Given the description of an element on the screen output the (x, y) to click on. 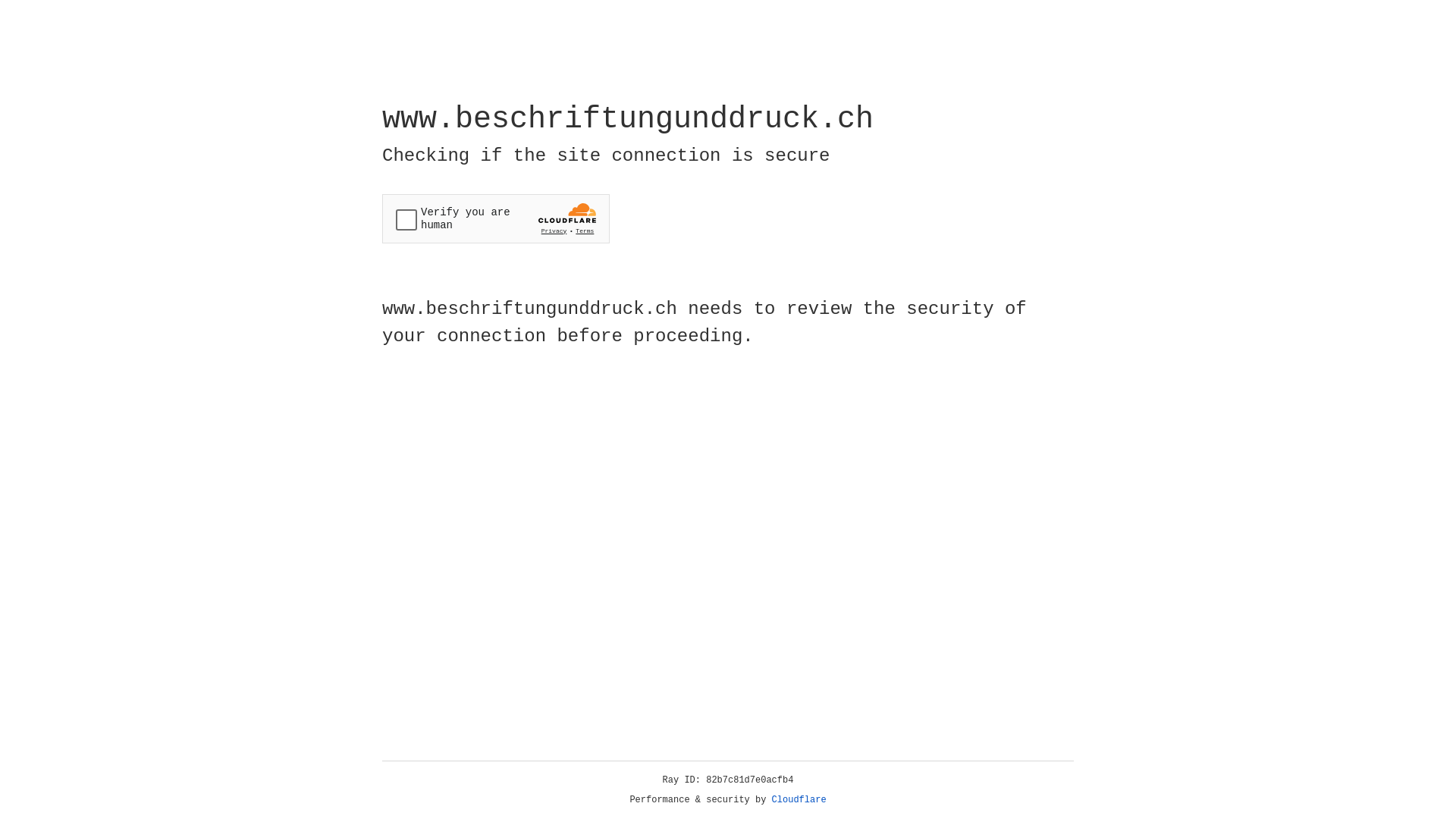
Cloudflare Element type: text (798, 799)
Widget containing a Cloudflare security challenge Element type: hover (495, 218)
